Given the description of an element on the screen output the (x, y) to click on. 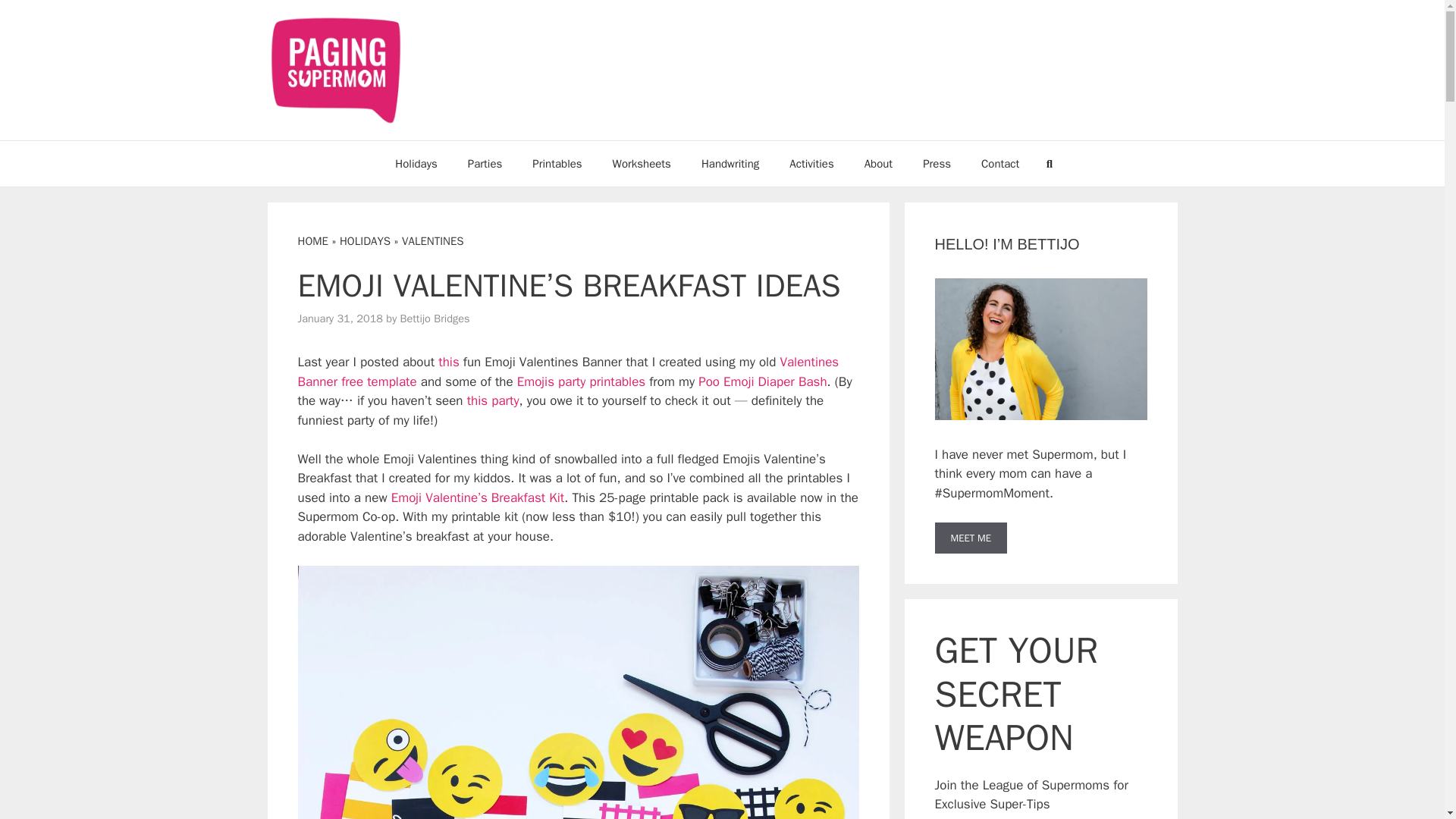
HOME (312, 241)
View all posts by Bettijo Bridges (435, 317)
Valentines Banner free template (567, 371)
Printables (556, 163)
Contact (999, 163)
About (877, 163)
Emojis party printables (580, 381)
HOLIDAYS (364, 241)
Activities (811, 163)
Press (936, 163)
this (449, 361)
VALENTINES (432, 241)
Parties (485, 163)
Worksheets (640, 163)
